Given the description of an element on the screen output the (x, y) to click on. 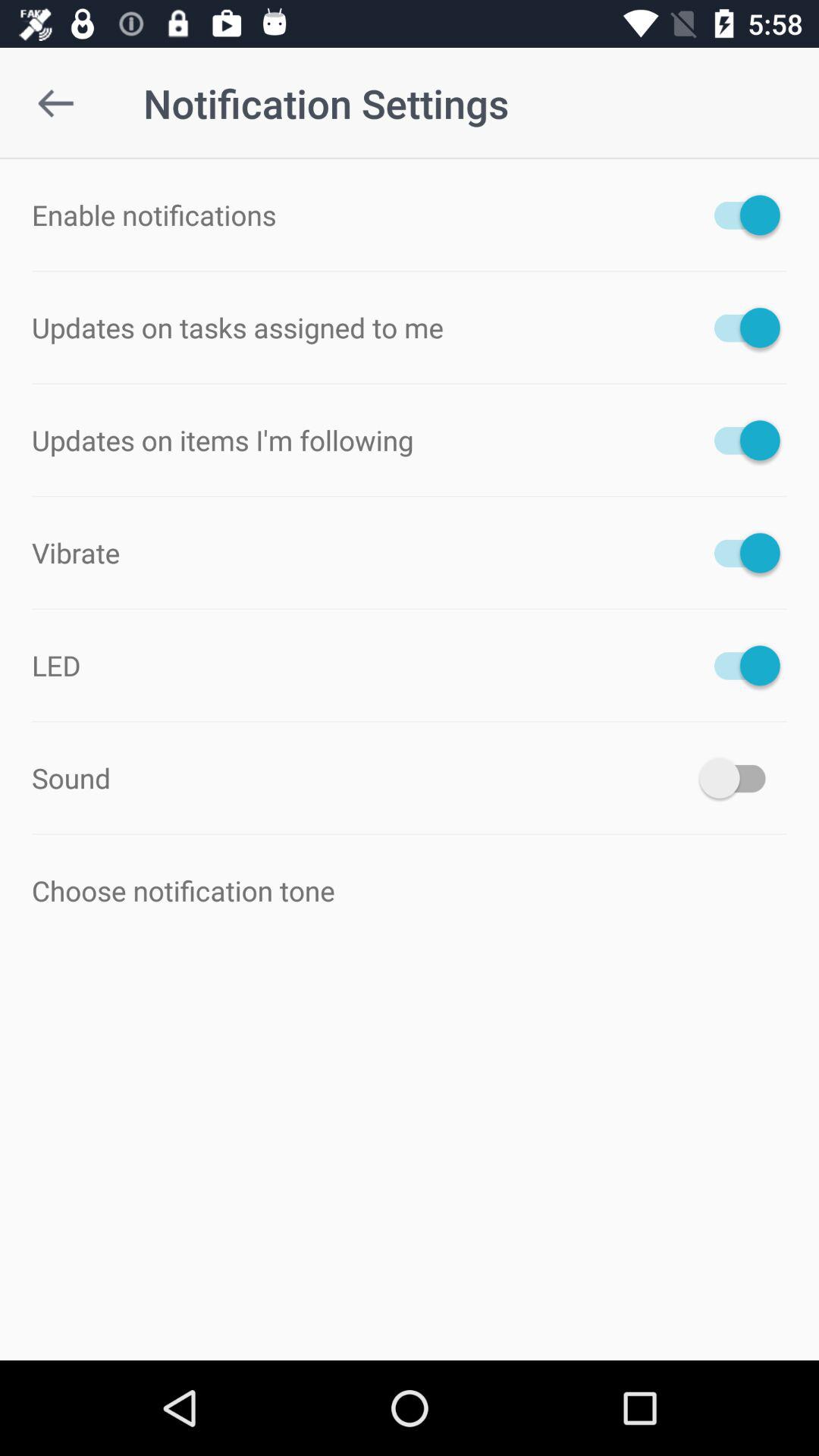
launch item next to vibrate (739, 552)
